Given the description of an element on the screen output the (x, y) to click on. 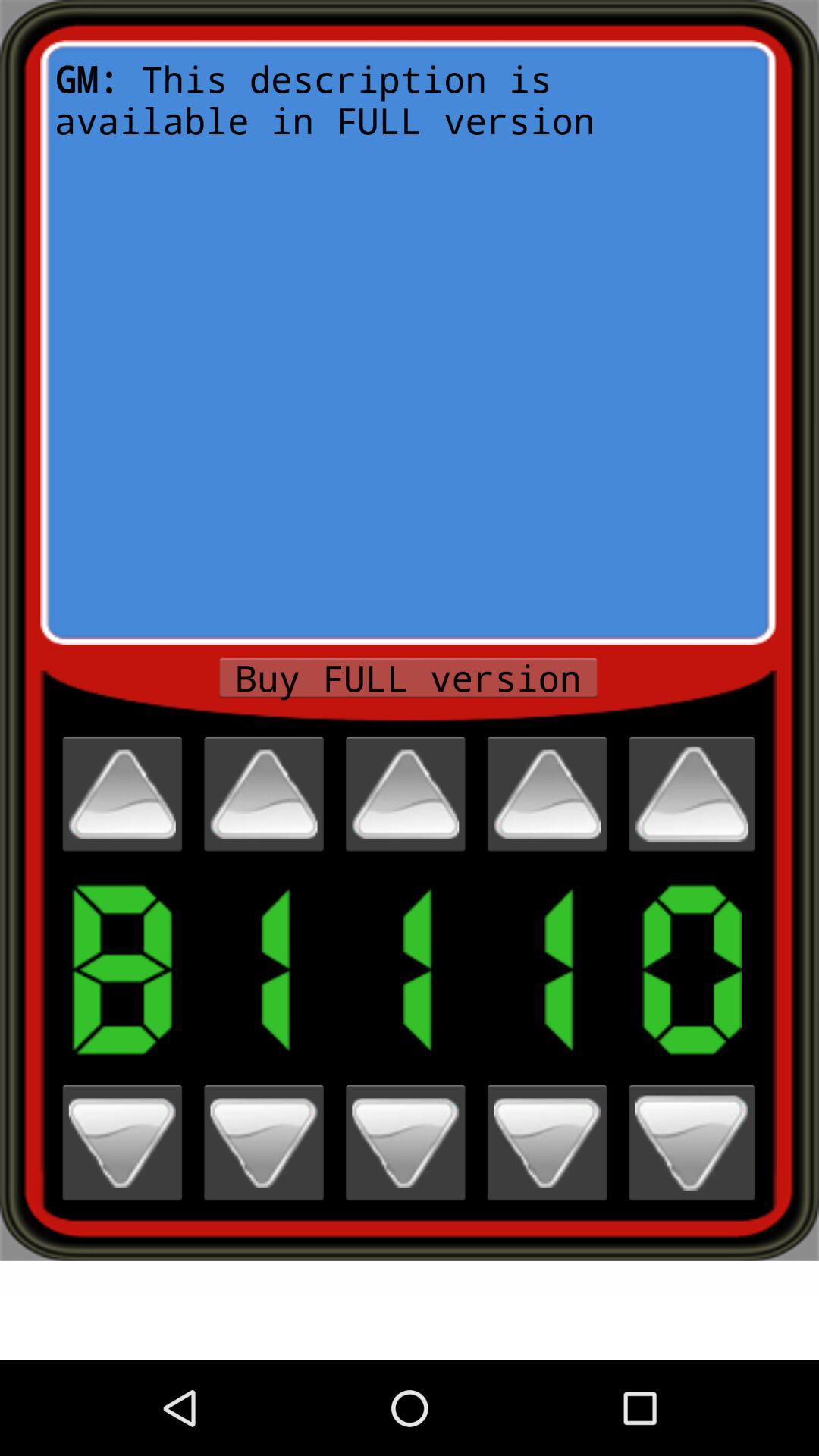
shows up icon (691, 794)
